Given the description of an element on the screen output the (x, y) to click on. 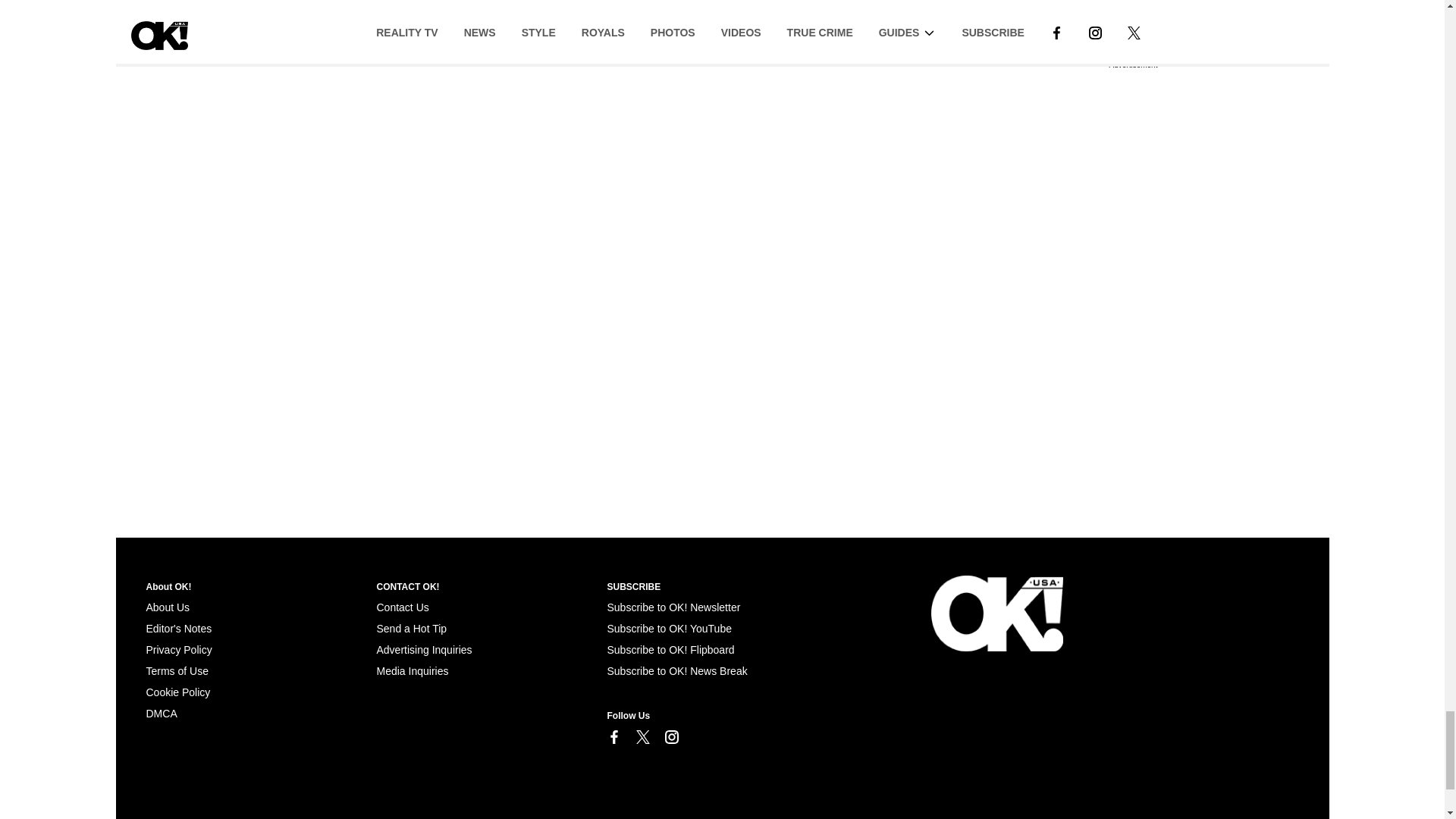
Cookie Policy (177, 692)
Send a Hot Tip (410, 628)
Link to X (641, 736)
Link to Instagram (670, 736)
Editor's Notes (178, 628)
Cookie Policy (160, 713)
About Us (167, 607)
Privacy Policy (178, 649)
Contact Us (401, 607)
Link to Facebook (613, 736)
